Given the description of an element on the screen output the (x, y) to click on. 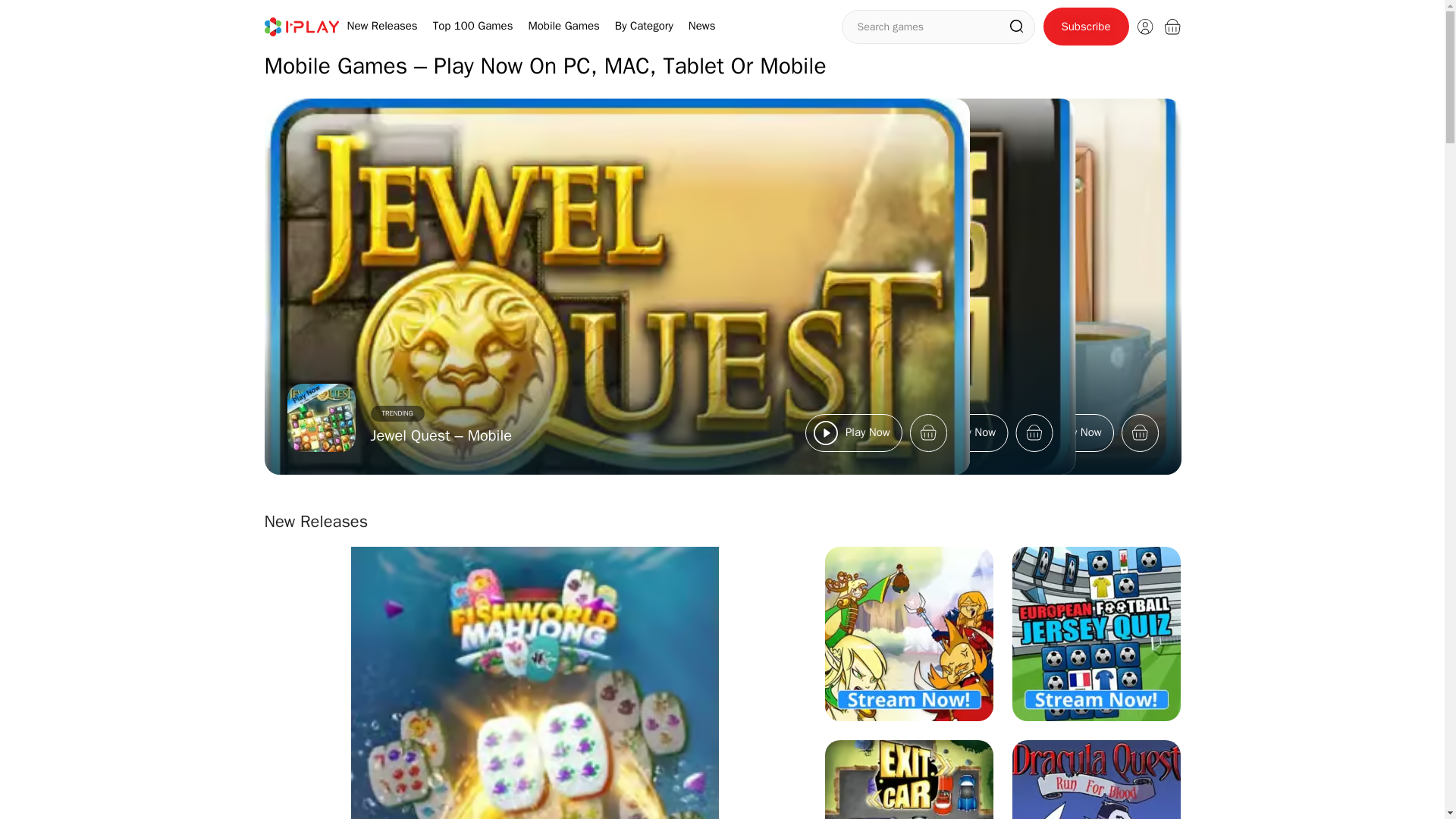
News (702, 25)
Search (1017, 26)
Top 100 Games (472, 25)
By Category (643, 25)
Play Now (851, 432)
Deal or No Deal for Prizes (561, 434)
Mobile Games (562, 25)
Subscribe (1086, 26)
New Releases (382, 25)
Search (1017, 26)
Daily Jigsaw (622, 434)
Play Now (956, 432)
Search (1017, 26)
Play Now (1063, 432)
